Given the description of an element on the screen output the (x, y) to click on. 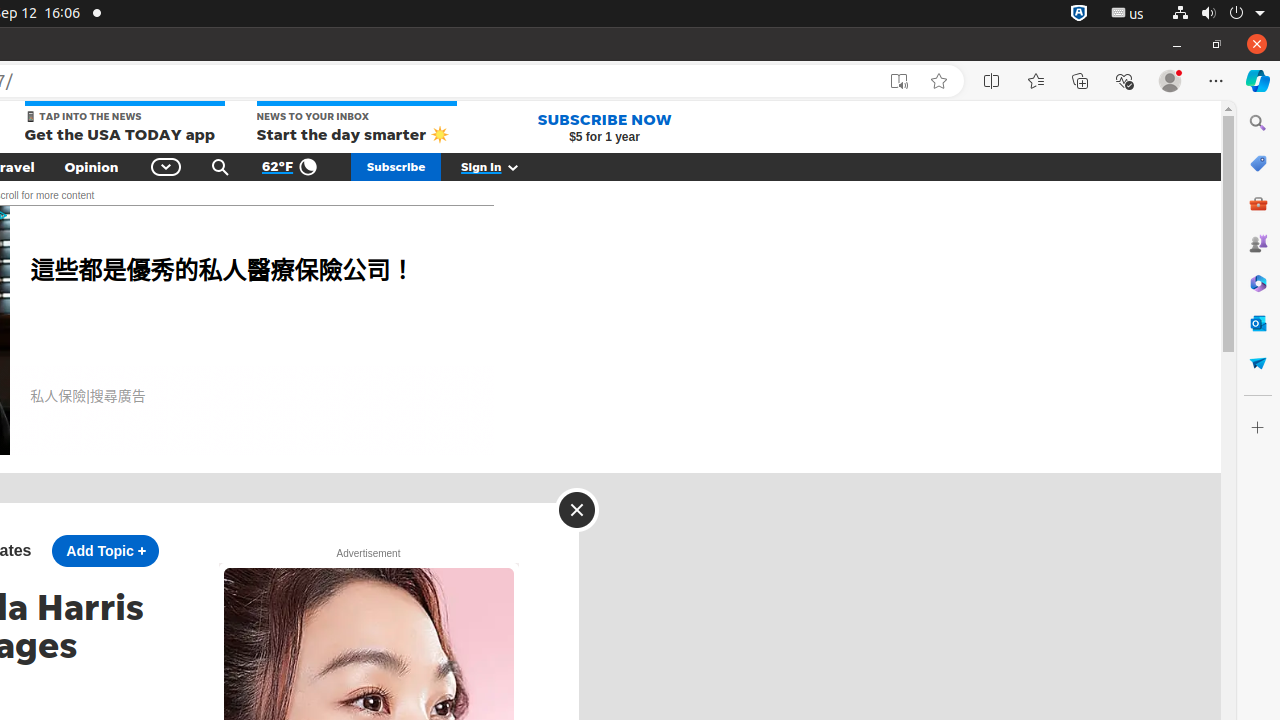
Copilot (Ctrl+Shift+.) Element type: push-button (1258, 81)
Search Element type: push-button (1258, 123)
Subscribe Element type: link (396, 167)
Settings and more (Alt+F) Element type: push-button (1216, 81)
Favorites Element type: push-button (1036, 81)
